Given the description of an element on the screen output the (x, y) to click on. 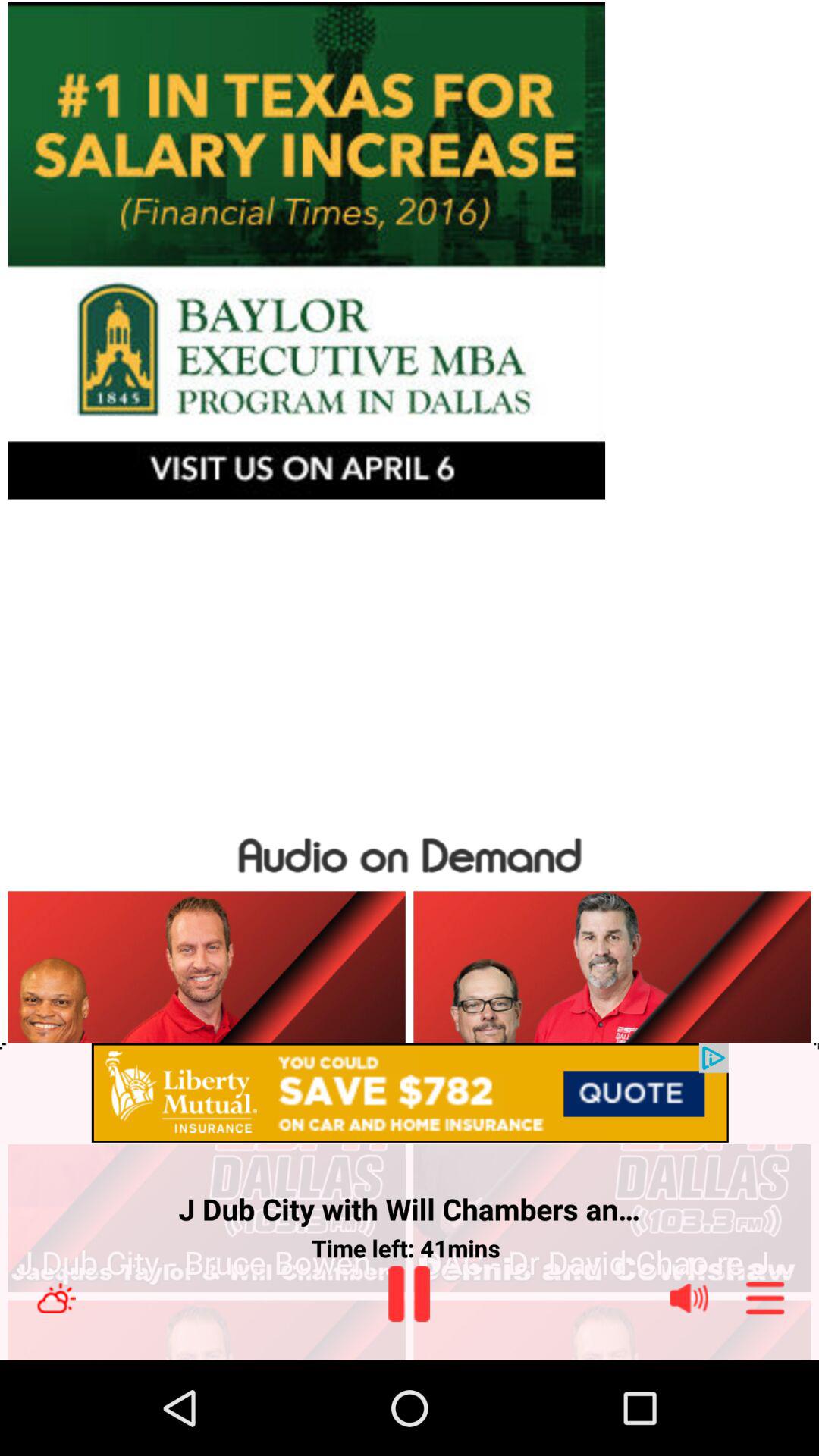
this button indicates advertisements present in the program (409, 1093)
